Given the description of an element on the screen output the (x, y) to click on. 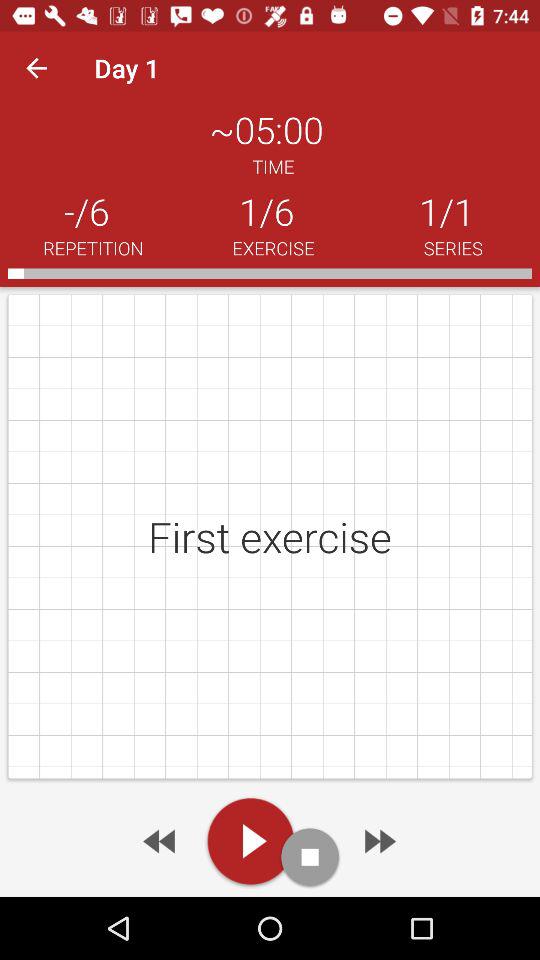
fast forward (378, 841)
